Given the description of an element on the screen output the (x, y) to click on. 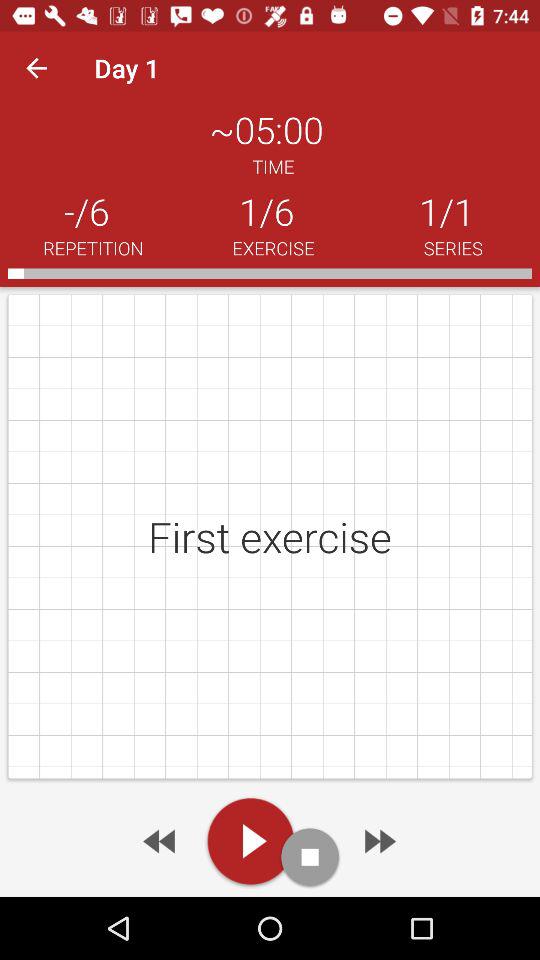
fast forward (378, 841)
